Given the description of an element on the screen output the (x, y) to click on. 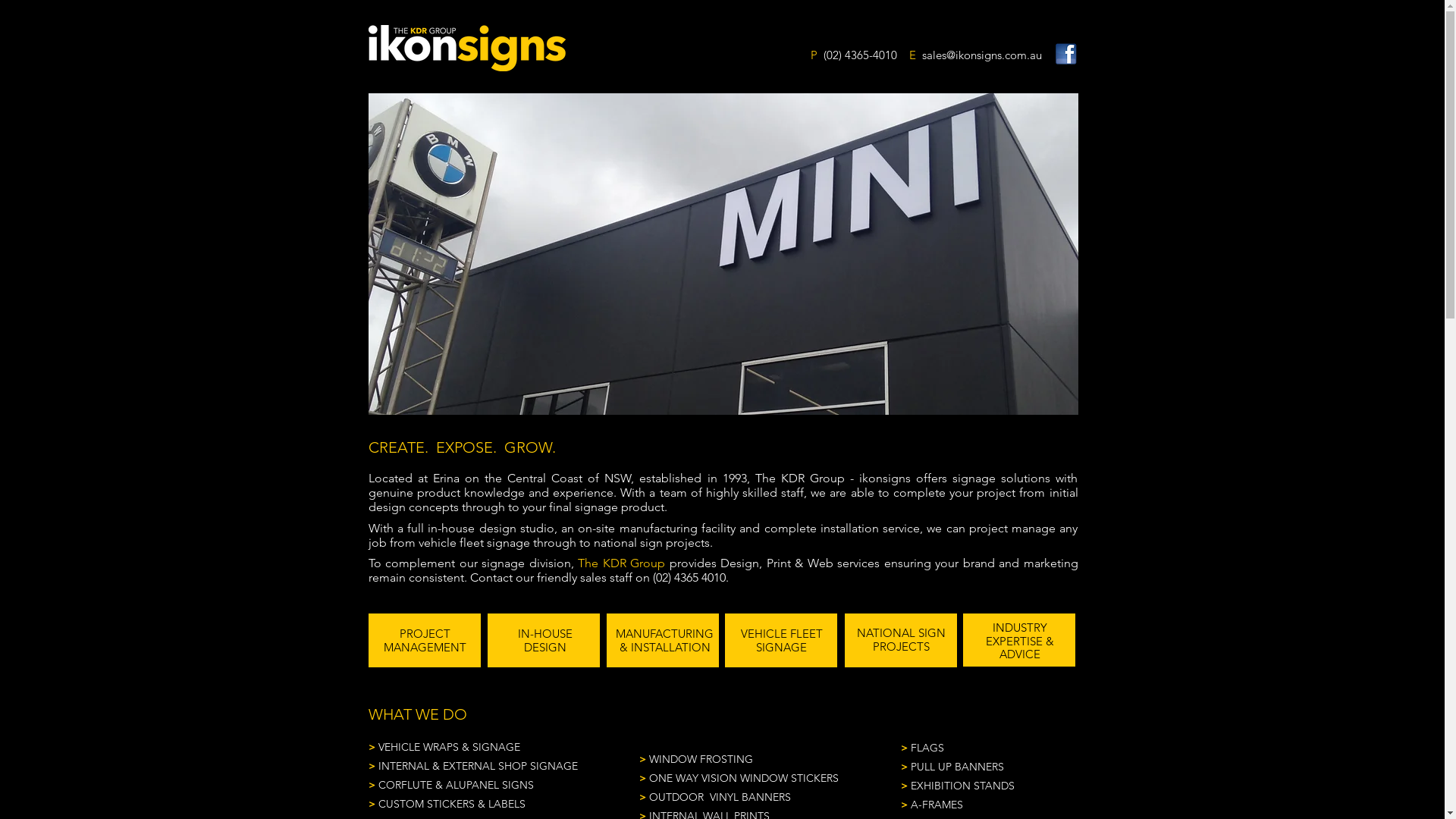
sales@ikonsigns.com.au Element type: text (981, 54)
The KDR Group Element type: text (621, 562)
IKON SIGNS LOGO NEG.png Element type: hover (466, 48)
